Given the description of an element on the screen output the (x, y) to click on. 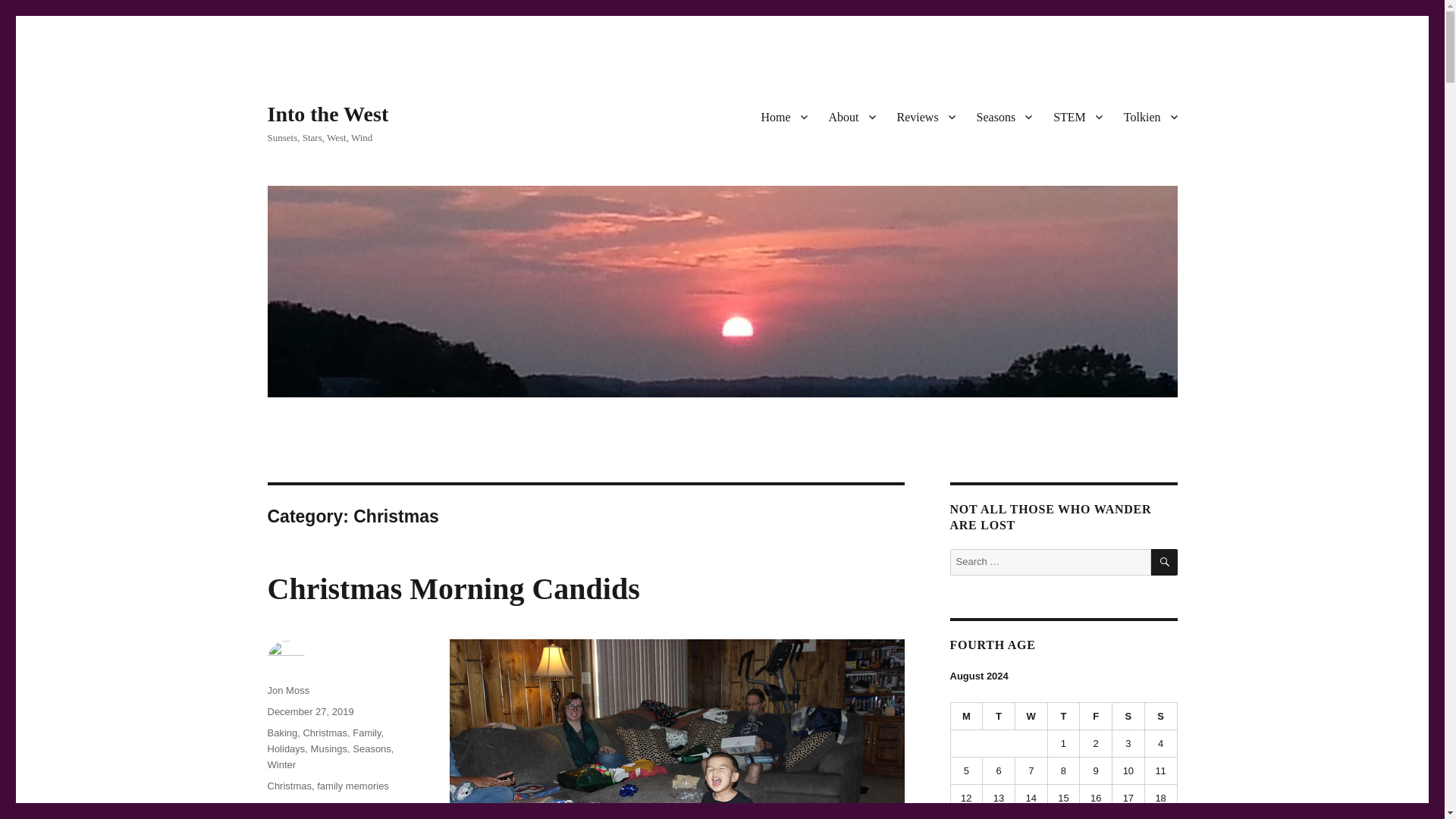
Home (782, 116)
STEM (1077, 116)
Seasons (1004, 116)
Sunday (1160, 716)
About (850, 116)
Tuesday (998, 716)
Monday (967, 716)
Saturday (1128, 716)
Wednesday (1031, 716)
Reviews (925, 116)
